Given the description of an element on the screen output the (x, y) to click on. 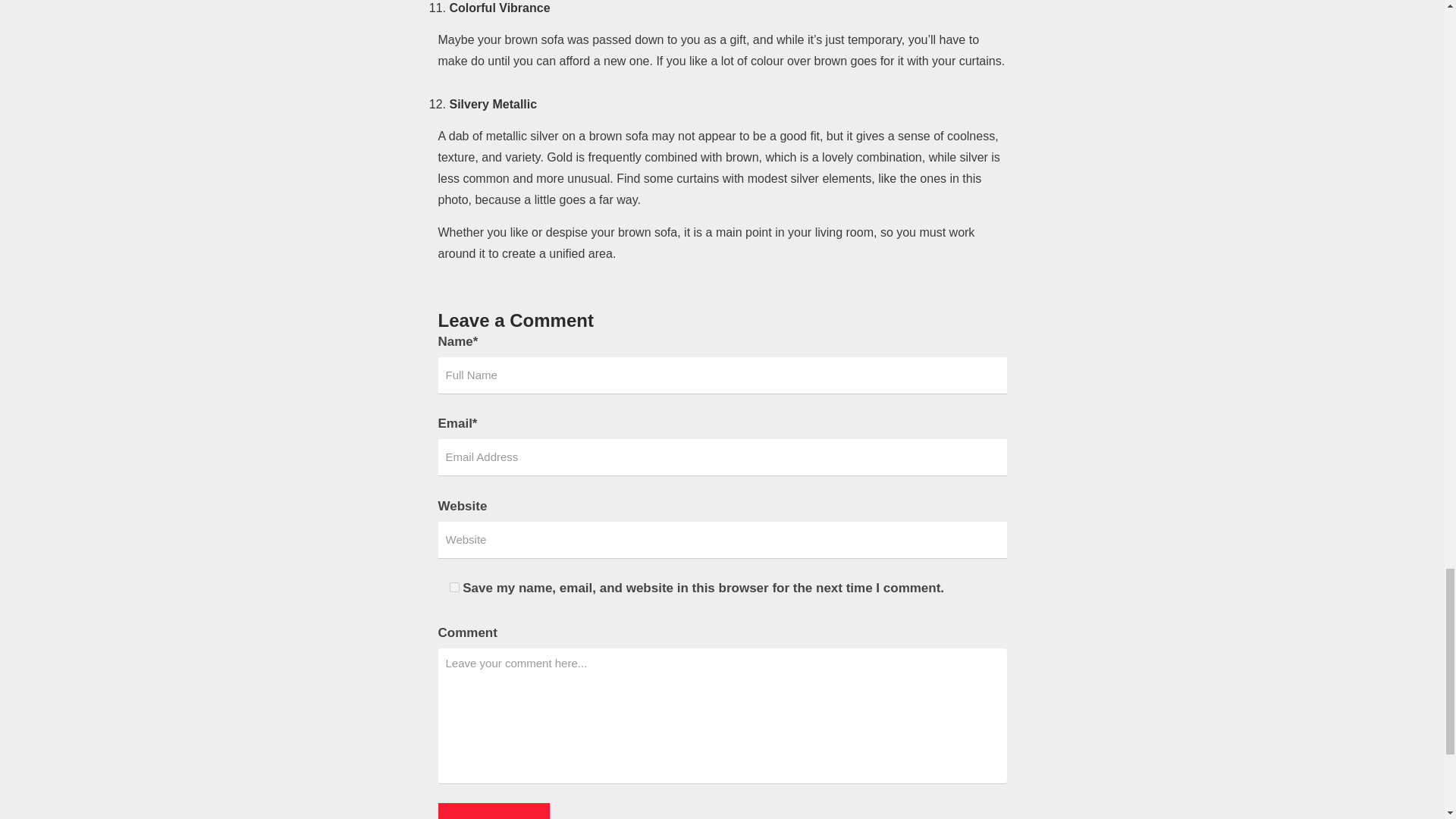
Submit (494, 811)
yes (453, 587)
Submit (494, 811)
